Given the description of an element on the screen output the (x, y) to click on. 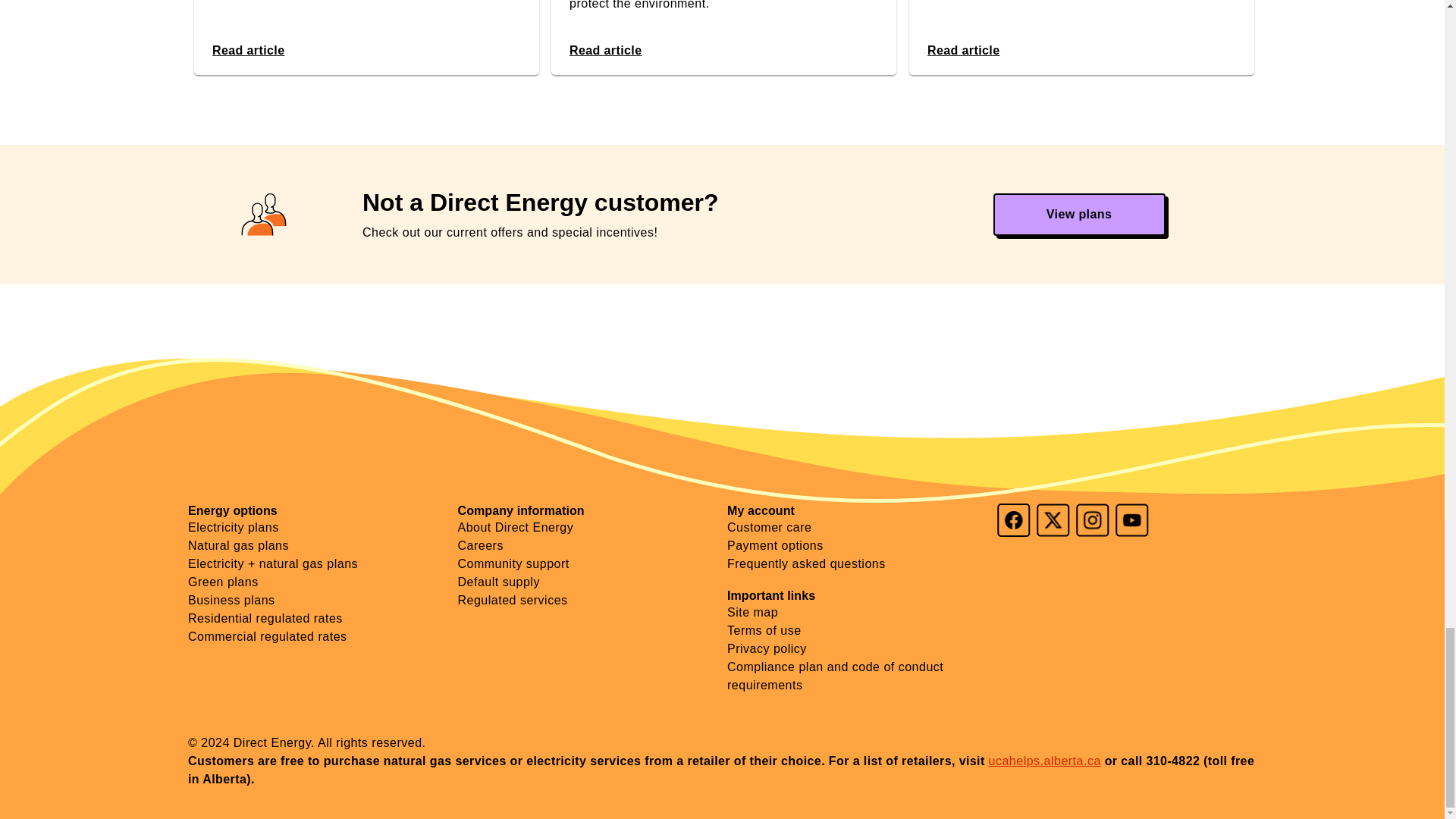
Business plans (231, 599)
Read article (605, 50)
Read article (962, 50)
Read article (248, 50)
Green plans (223, 581)
Natural gas plans (237, 545)
Electricity plans (233, 526)
